Given the description of an element on the screen output the (x, y) to click on. 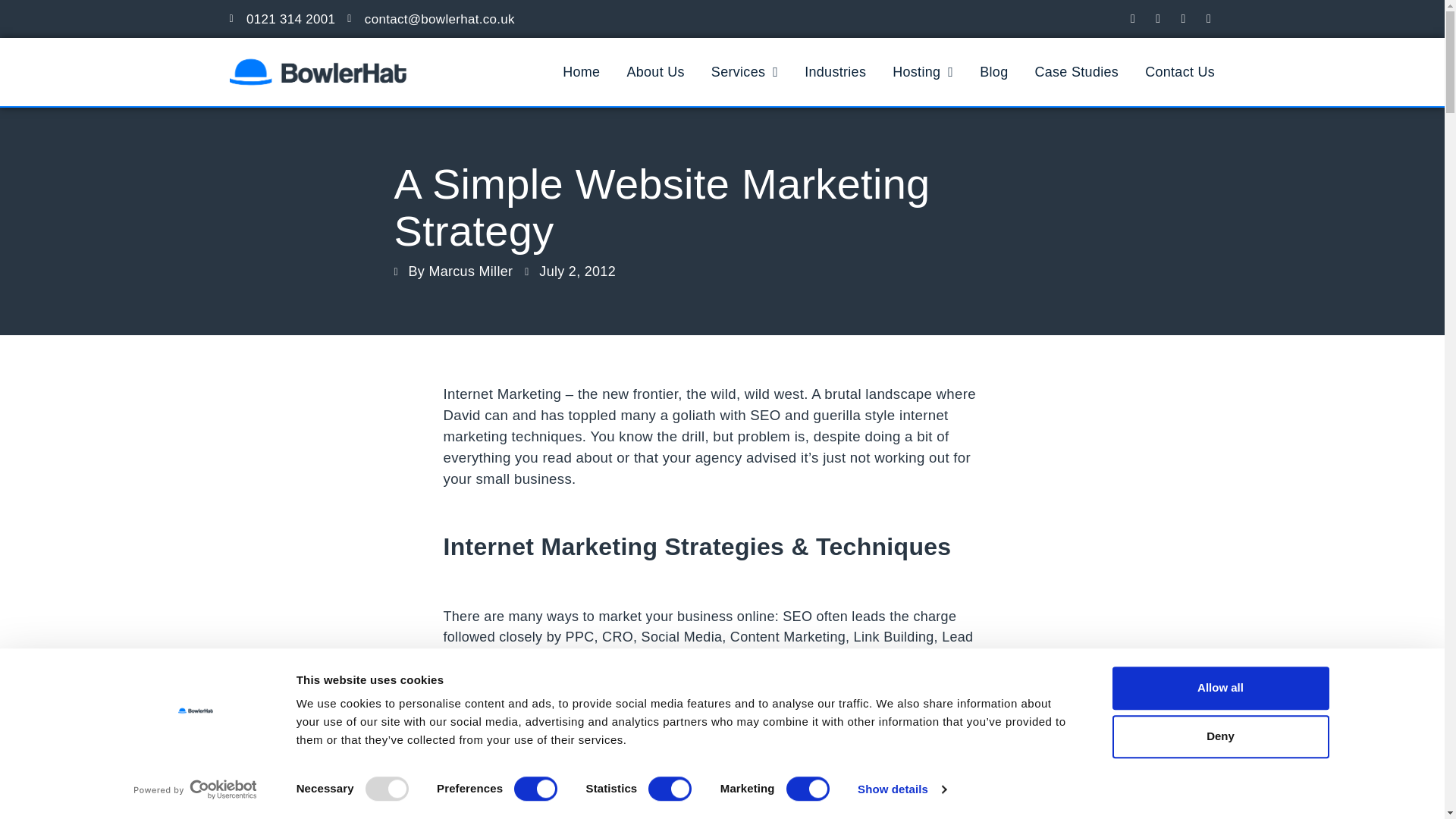
Show details (900, 789)
